Given the description of an element on the screen output the (x, y) to click on. 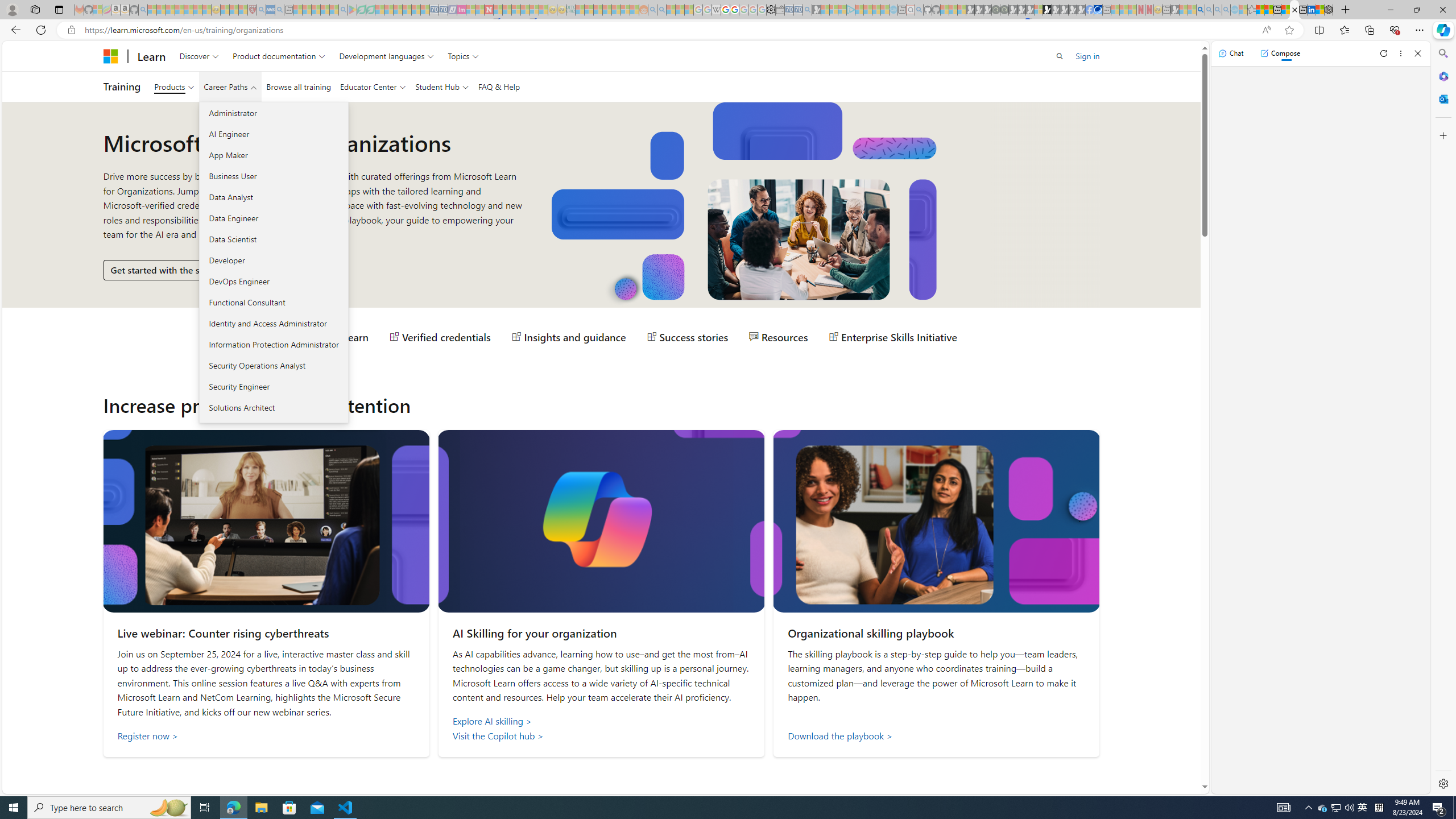
Future Focus Report 2024 - Sleeping (1004, 9)
Explore AI skilling > (601, 720)
Information Protection Administrator (273, 344)
utah sues federal government - Search - Sleeping (279, 9)
Register now > (265, 735)
Visit the Copilot hub > (601, 735)
google - Search - Sleeping (342, 9)
